Given the description of an element on the screen output the (x, y) to click on. 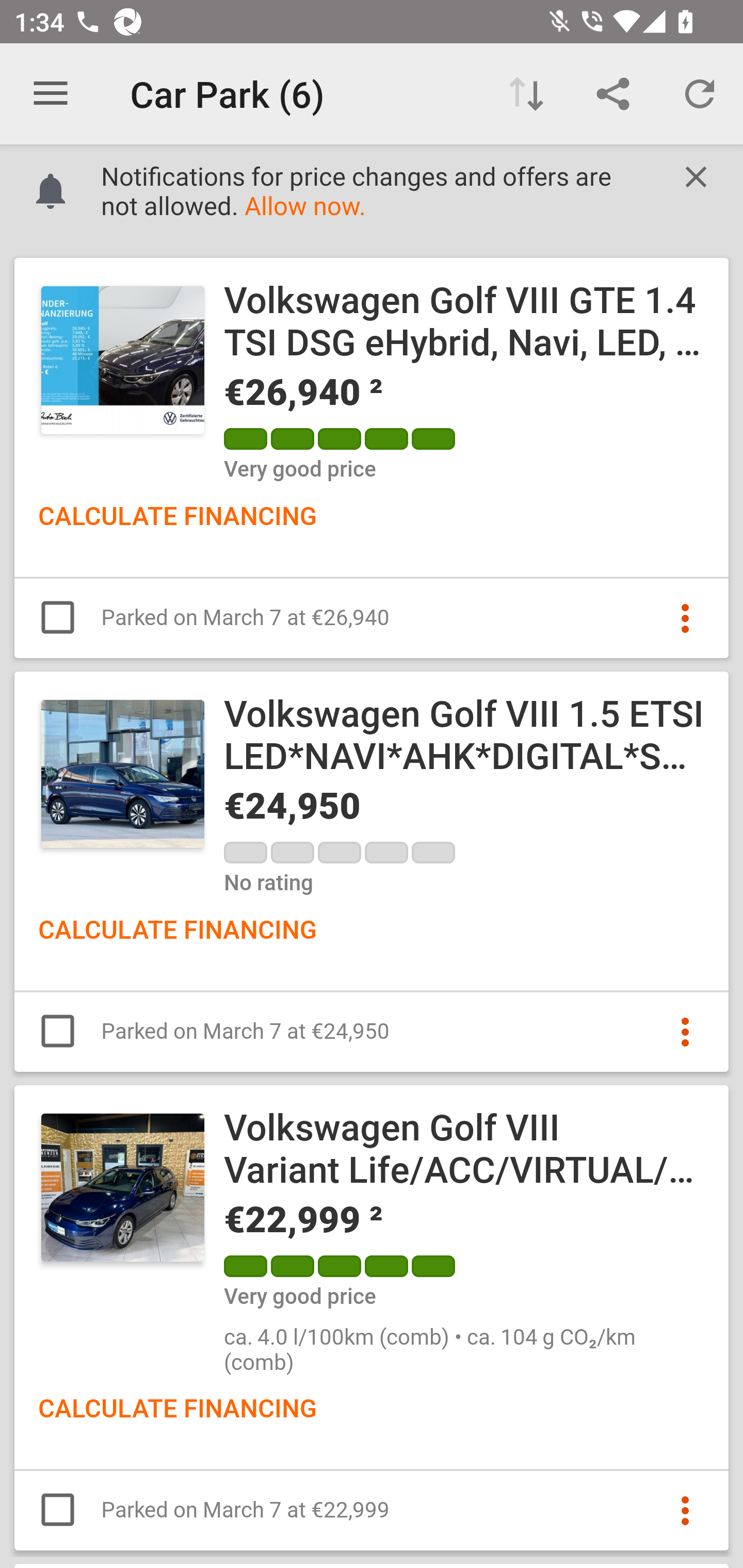
Open navigation bar (50, 93)
Sort options (525, 93)
Share via (612, 93)
synchronize (699, 93)
CALCULATE FINANCING (177, 514)
CALCULATE FINANCING (177, 928)
CALCULATE FINANCING (177, 1407)
